Given the description of an element on the screen output the (x, y) to click on. 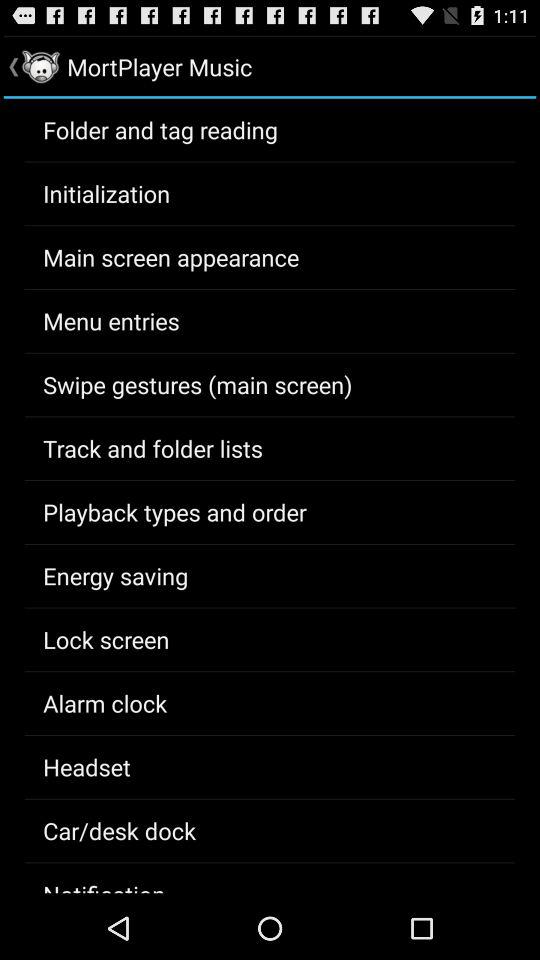
jump until the headset app (86, 767)
